Given the description of an element on the screen output the (x, y) to click on. 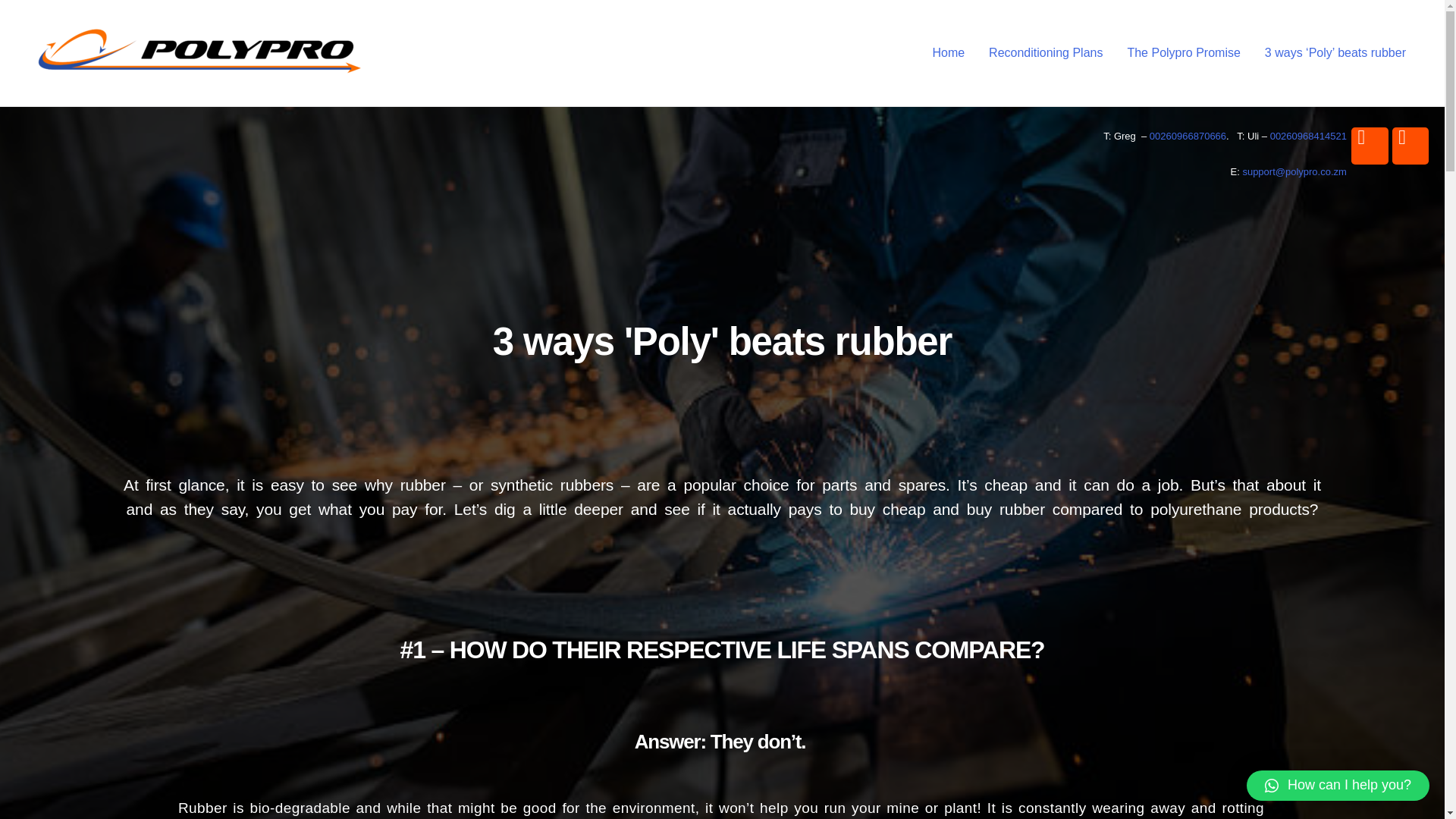
Reconditioning Plans (1045, 52)
00260966870666 (1187, 135)
How can I help you? (1337, 785)
00260968414521 (1307, 135)
The Polypro Promise (1183, 52)
Home (948, 52)
